Given the description of an element on the screen output the (x, y) to click on. 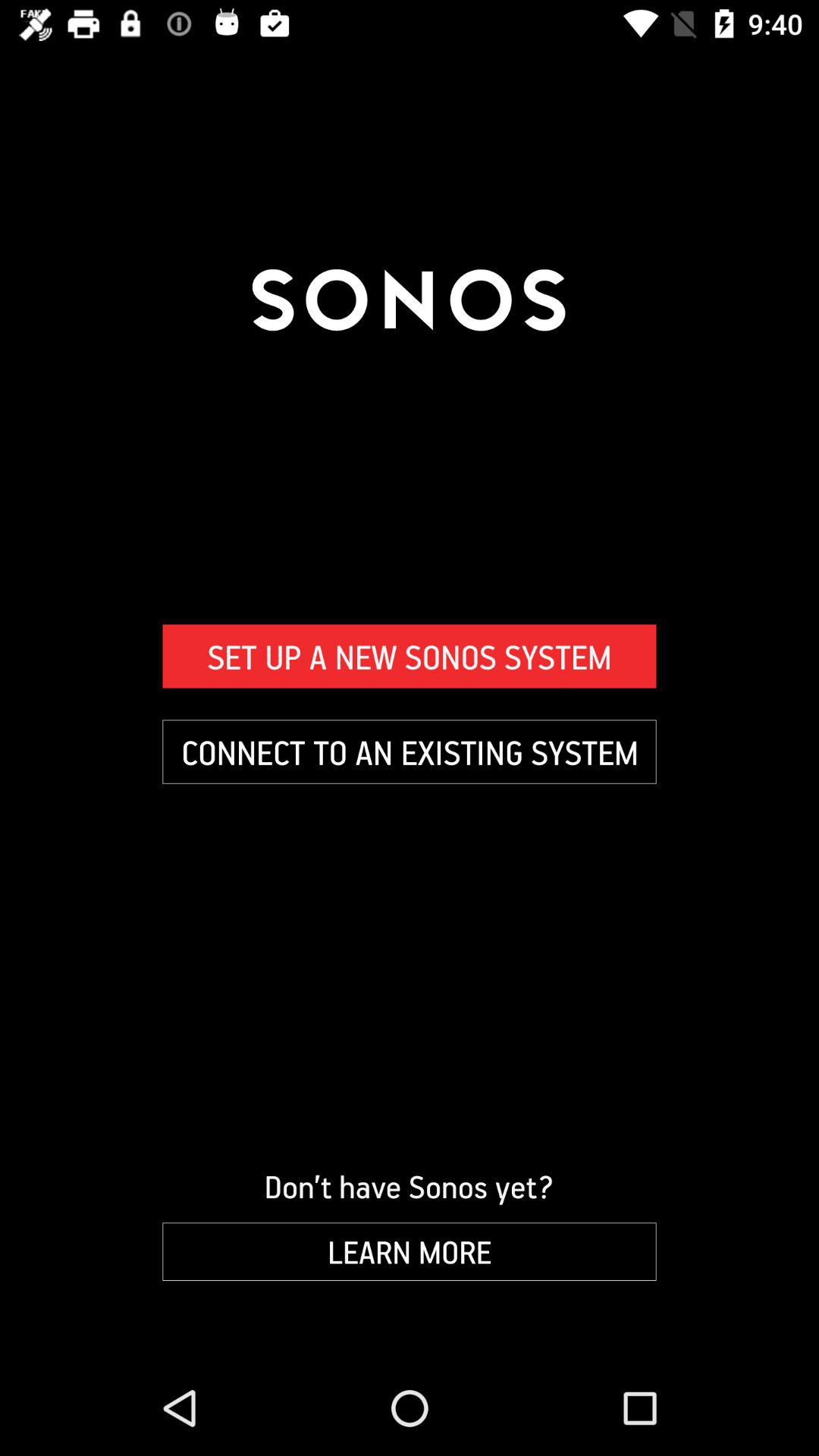
choose the item below don t have item (409, 1251)
